Given the description of an element on the screen output the (x, y) to click on. 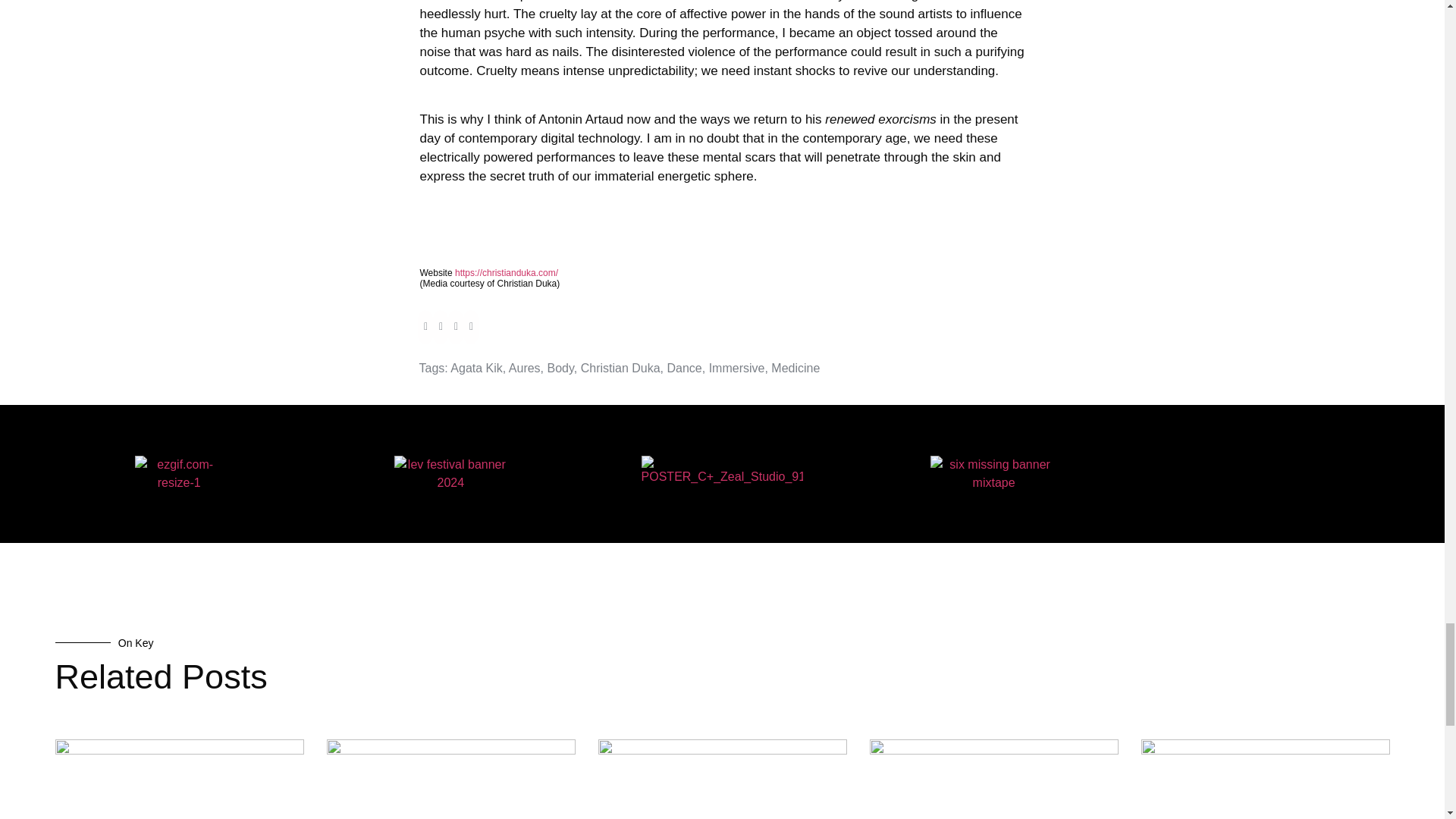
ezgif.com-resize-1 (179, 473)
ezgif-1-2da2a536b5 (993, 473)
ezgif-1-3803018b25 (450, 473)
